Given the description of an element on the screen output the (x, y) to click on. 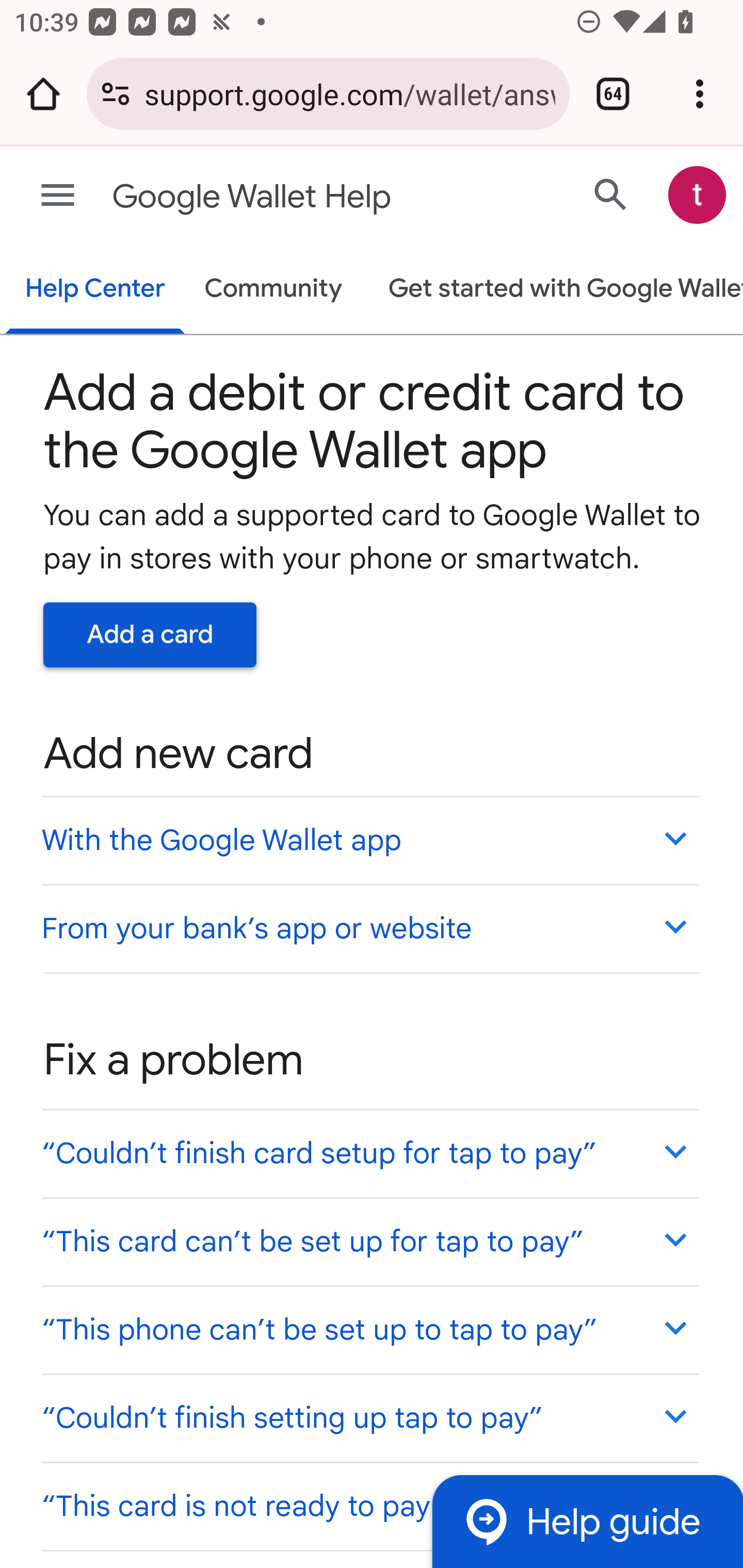
Open the home page (43, 93)
Connection is secure (115, 93)
Switch or close tabs (612, 93)
Customize and control Google Chrome (699, 93)
Main menu (58, 195)
Google Wallet Help (292, 197)
Search Help Center (611, 194)
Help Center (94, 289)
Community (273, 289)
Get started with Google Wallet (555, 289)
Add a card (150, 633)
With the Google Wallet app (369, 839)
From your bank’s app or website (369, 927)
“Couldn’t finish card setup for tap to pay” (369, 1152)
“This card can’t be set up for tap to pay” (369, 1240)
“This phone can’t be set up to tap to pay” (369, 1329)
“Couldn’t finish setting up tap to pay” (369, 1417)
“This card is not ready to pay online” (369, 1504)
Help guide (587, 1520)
